Given the description of an element on the screen output the (x, y) to click on. 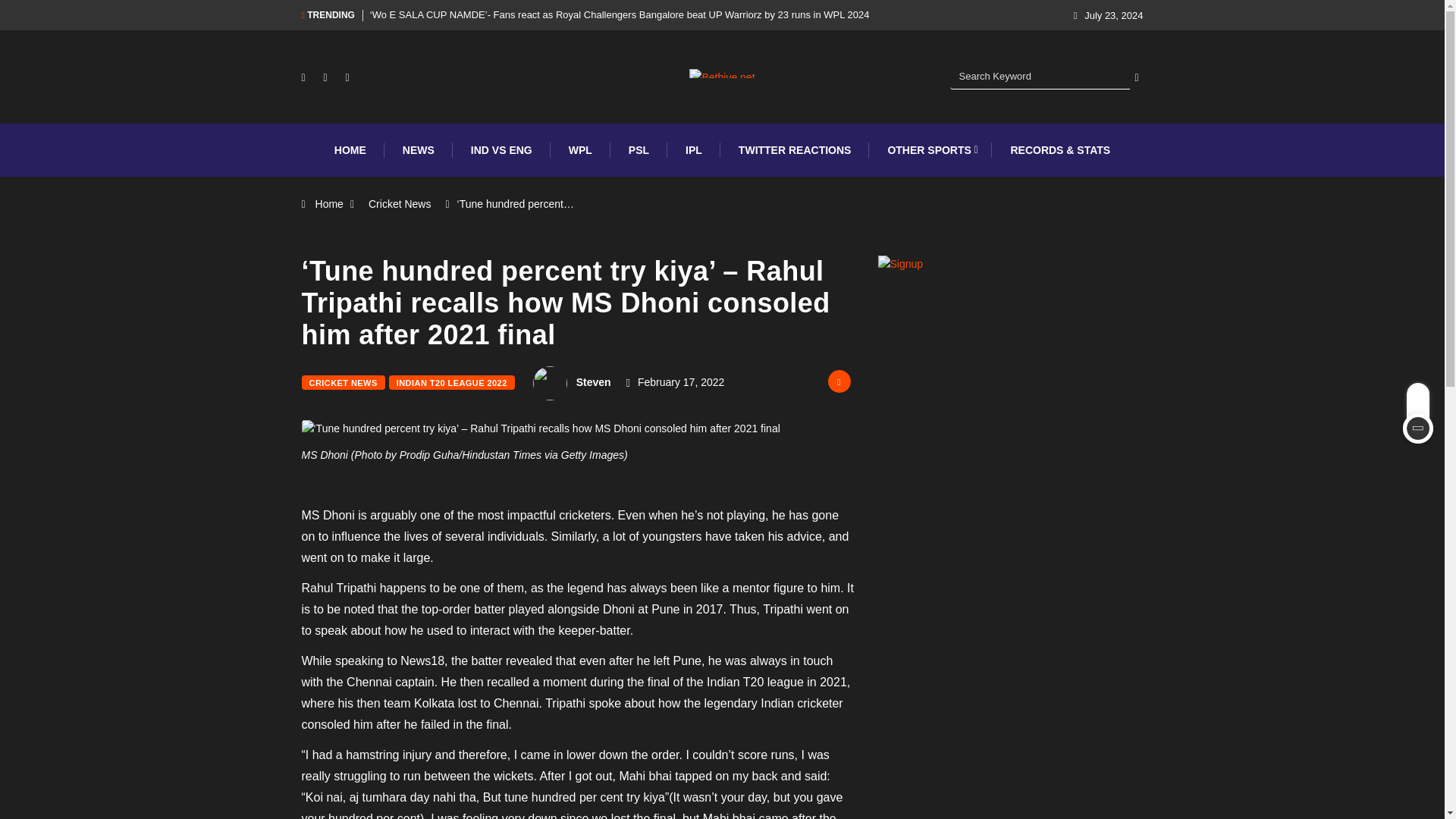
OTHER SPORTS (930, 149)
Home (329, 203)
Cricket News (399, 203)
Steven (593, 381)
IND VS ENG (501, 149)
TWITTER REACTIONS (794, 149)
INDIAN T20 LEAGUE 2022 (451, 382)
CRICKET NEWS (343, 382)
